Given the description of an element on the screen output the (x, y) to click on. 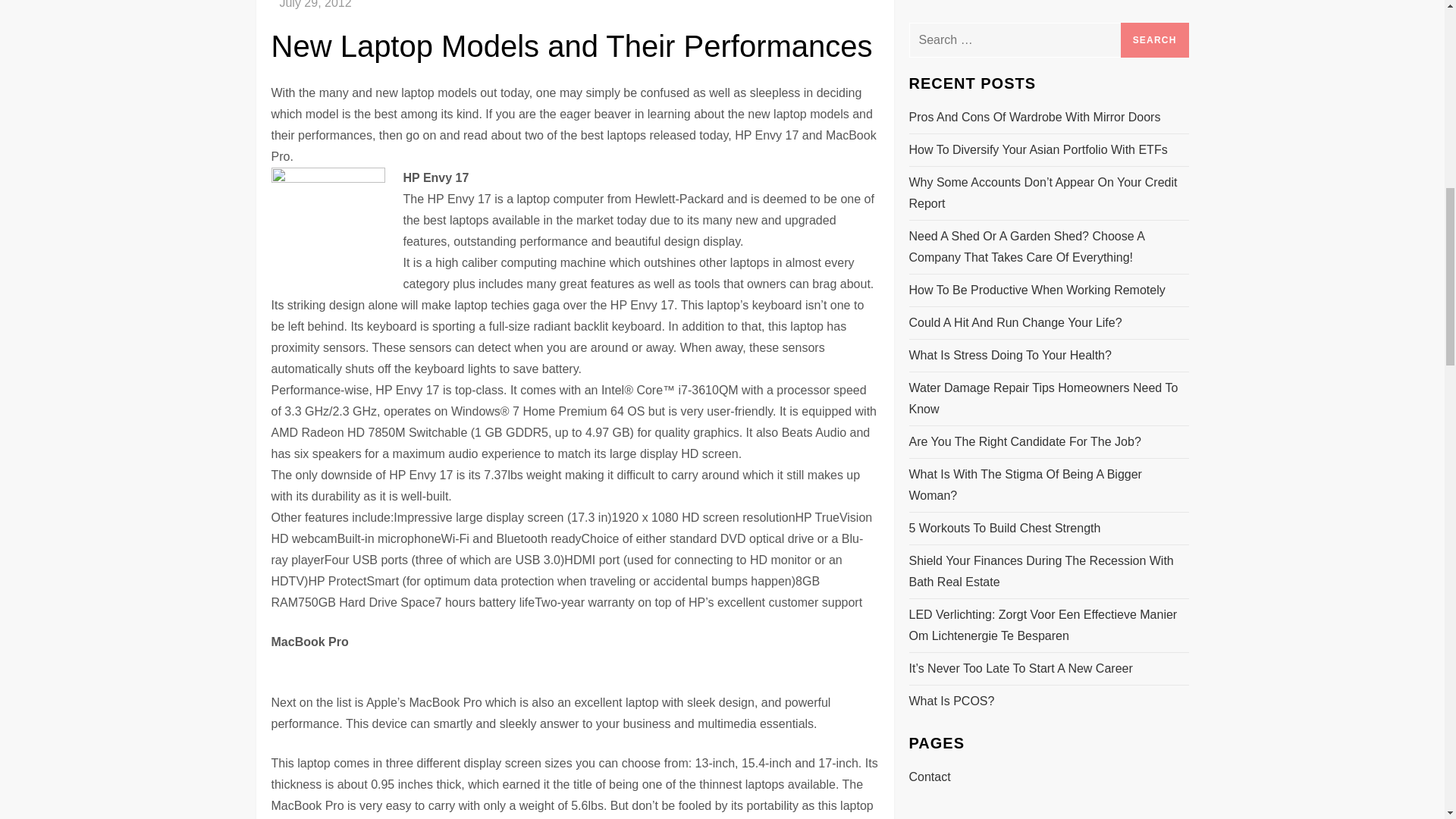
July 29, 2012 (314, 4)
